Given the description of an element on the screen output the (x, y) to click on. 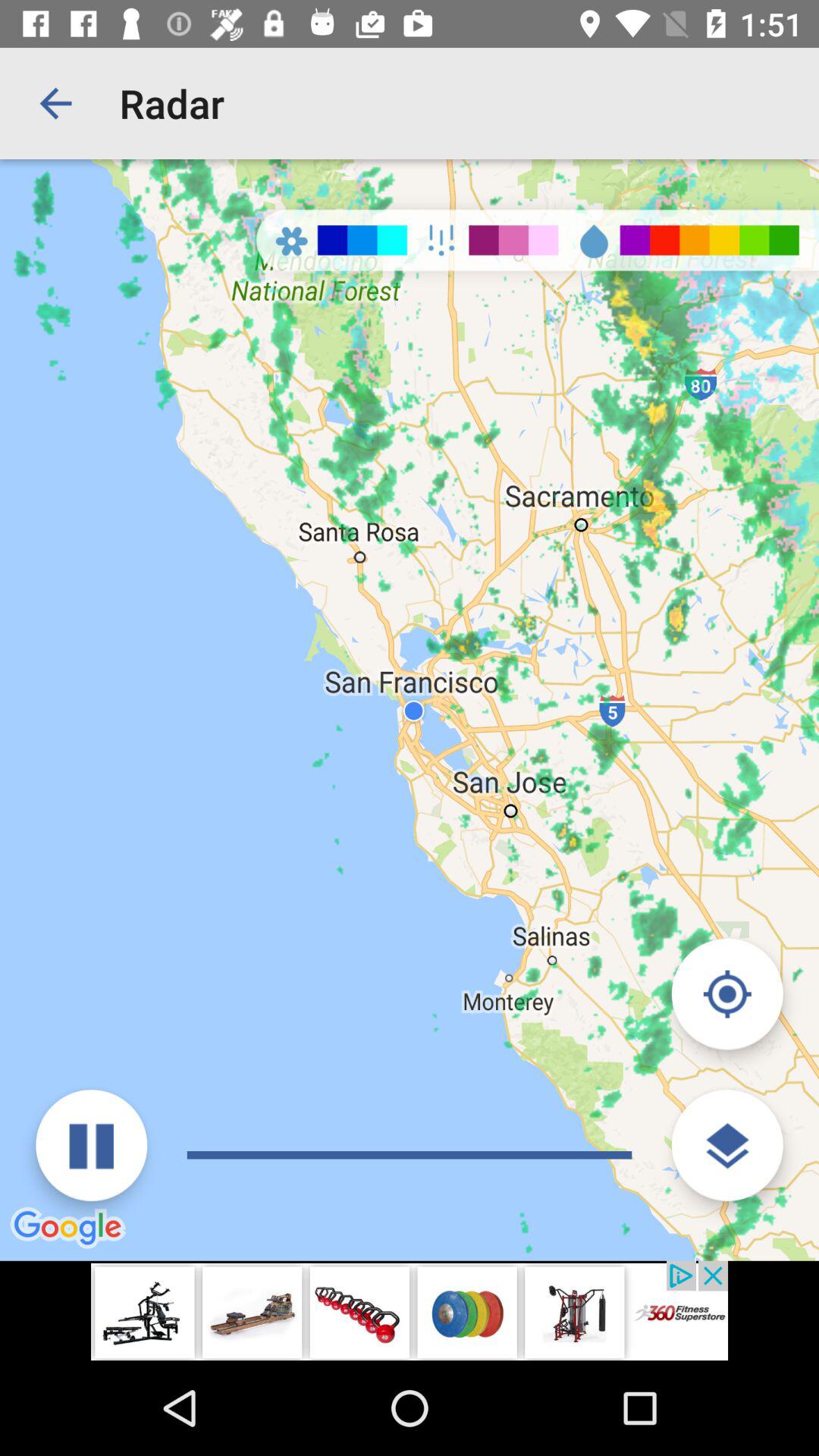
change layer (727, 1145)
